Given the description of an element on the screen output the (x, y) to click on. 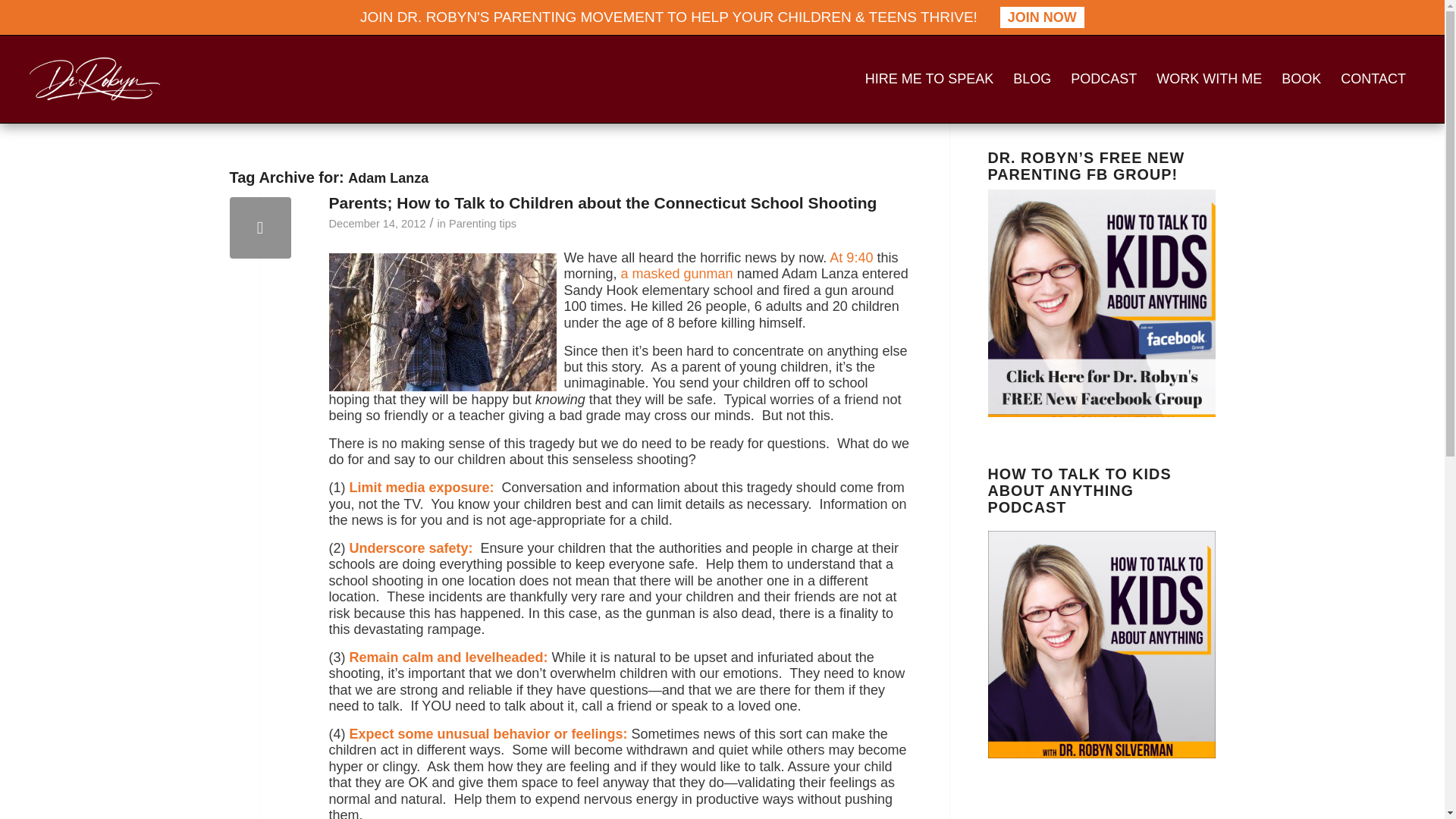
CONTACT (1372, 78)
HIRE ME TO SPEAK (929, 78)
a masked gunman (677, 273)
WORK WITH ME (1209, 78)
At 9:40 (850, 257)
Parenting tips (482, 223)
How to Talk to Kids About Anything Podcast (1100, 644)
